Given the description of an element on the screen output the (x, y) to click on. 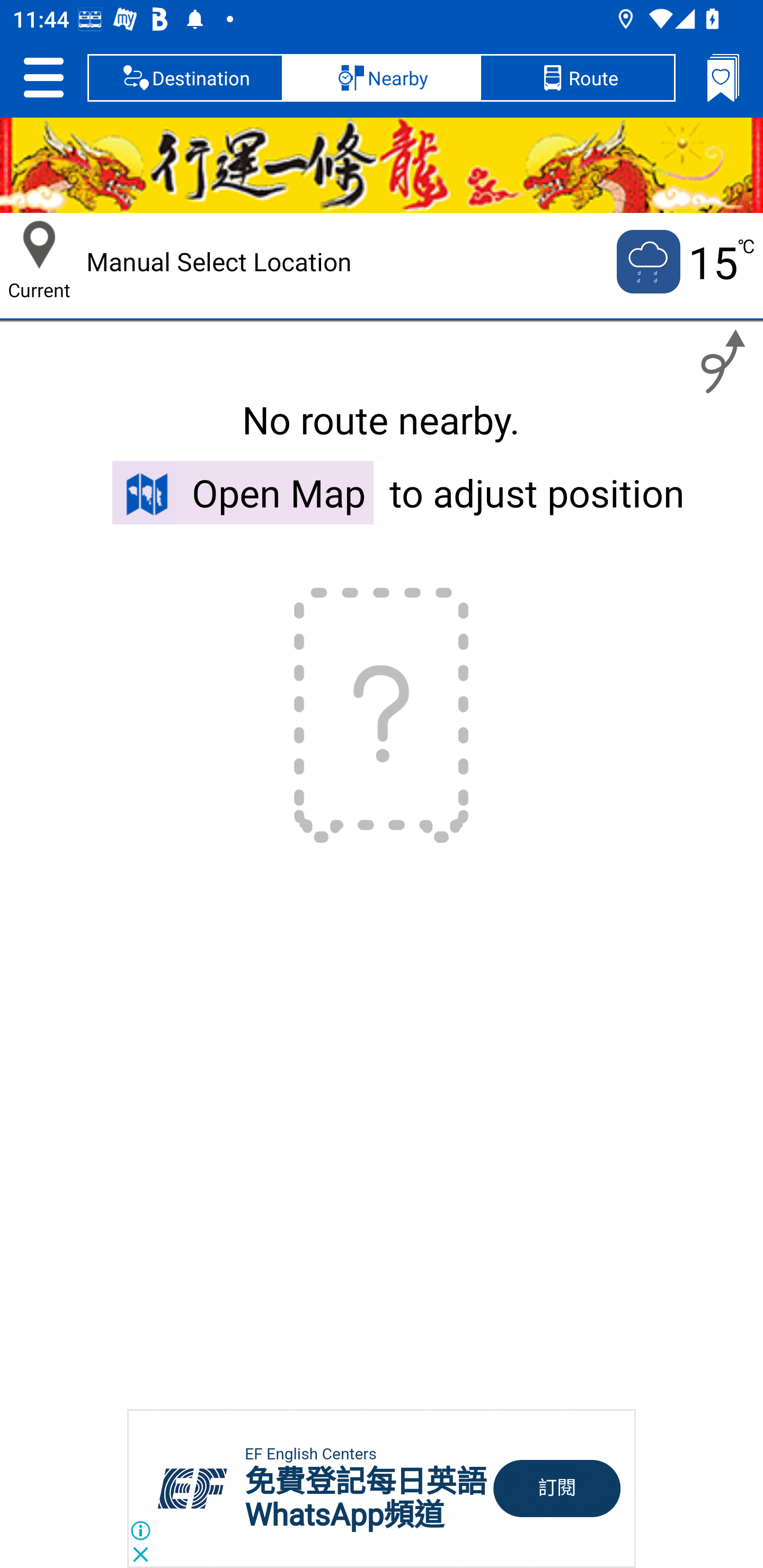
Destination (185, 77)
Nearby, selected (381, 77)
Route (577, 77)
Bookmarks (723, 77)
Setting (43, 77)
Lunar New Year 2024 (381, 165)
Current Location (38, 244)
Current temputure is  15  no 15 ℃ (684, 261)
Open Map (242, 491)
EF English Centers (310, 1454)
訂閱 (556, 1488)
免費登記每日英語 WhatsApp頻道 免費登記每日英語 WhatsApp頻道 (365, 1497)
